Given the description of an element on the screen output the (x, y) to click on. 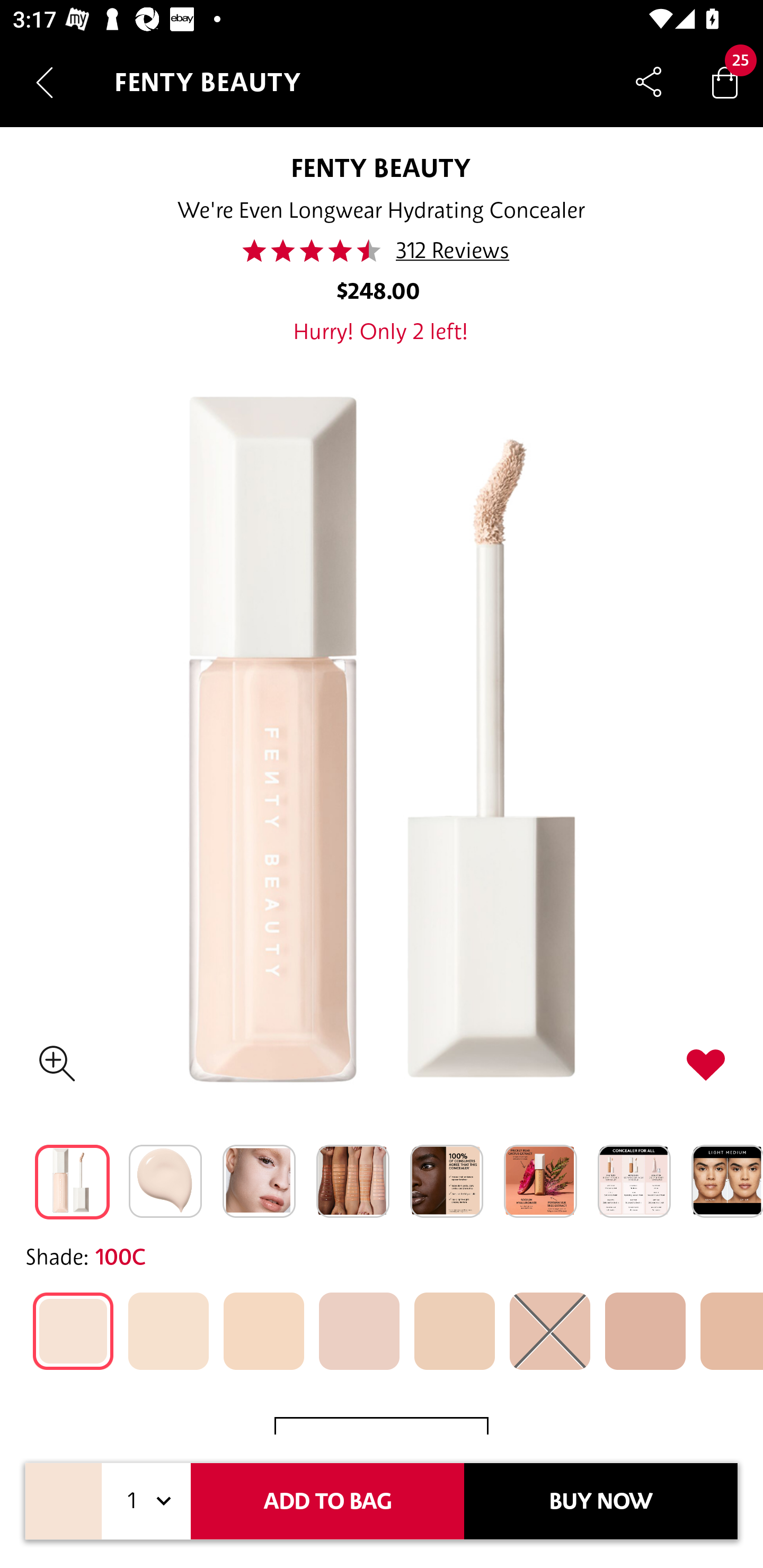
Navigate up (44, 82)
Share (648, 81)
Bag (724, 81)
FENTY BEAUTY (380, 167)
45.0 312 Reviews (381, 250)
1 (145, 1500)
ADD TO BAG (326, 1500)
BUY NOW (600, 1500)
